Given the description of an element on the screen output the (x, y) to click on. 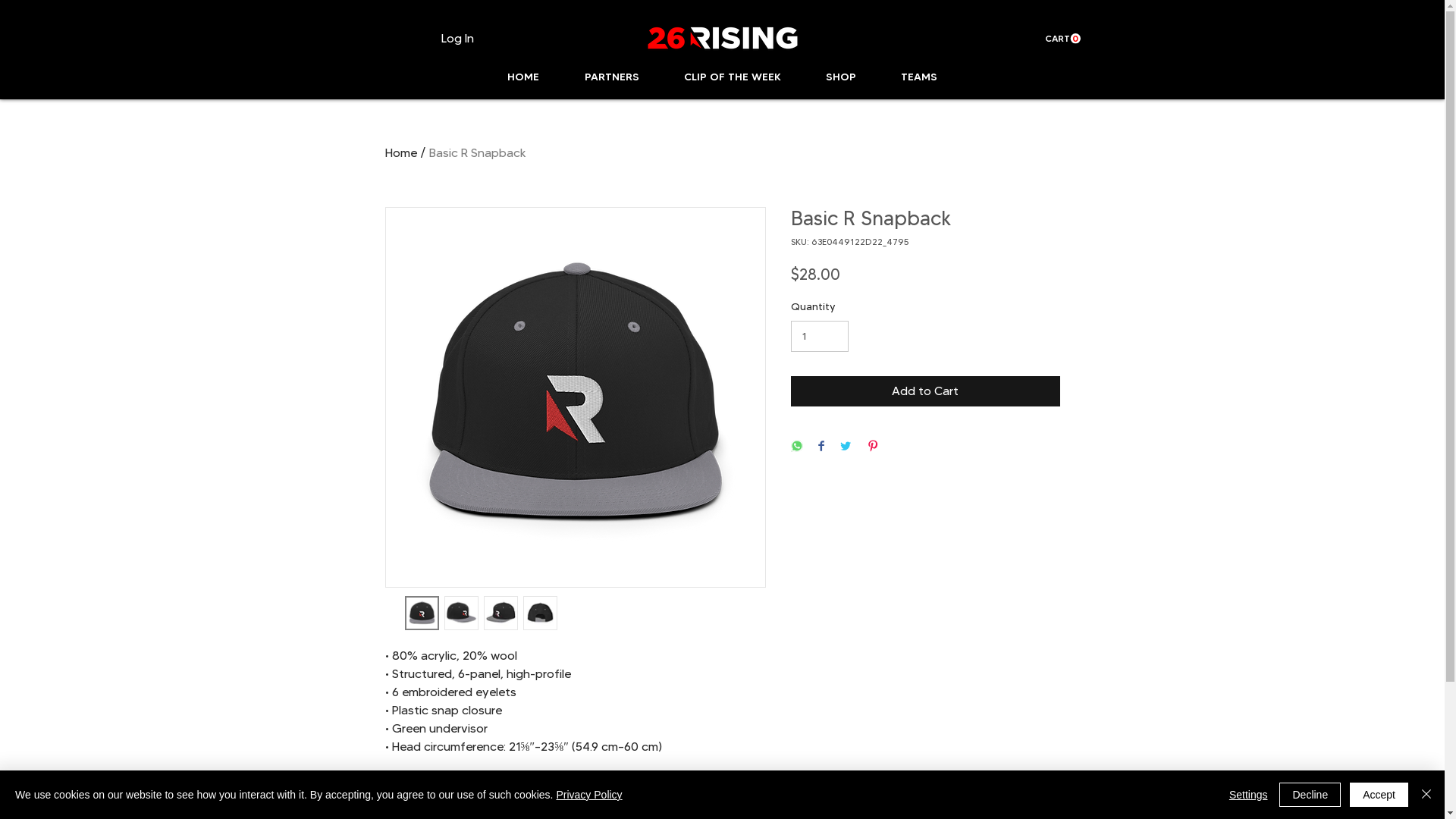
PARTNERS Element type: text (611, 76)
Add to Cart Element type: text (924, 391)
Visitor Analytics Element type: hover (1442, 4)
Home Element type: text (401, 152)
HOME Element type: text (522, 76)
SHOP Element type: text (840, 76)
0
CART Element type: text (1062, 38)
Accept Element type: text (1378, 794)
CLIP OF THE WEEK Element type: text (732, 76)
Basic R Snapback Element type: text (477, 152)
Privacy Policy Element type: text (588, 794)
Decline Element type: text (1309, 794)
Log In Element type: text (457, 38)
